Given the description of an element on the screen output the (x, y) to click on. 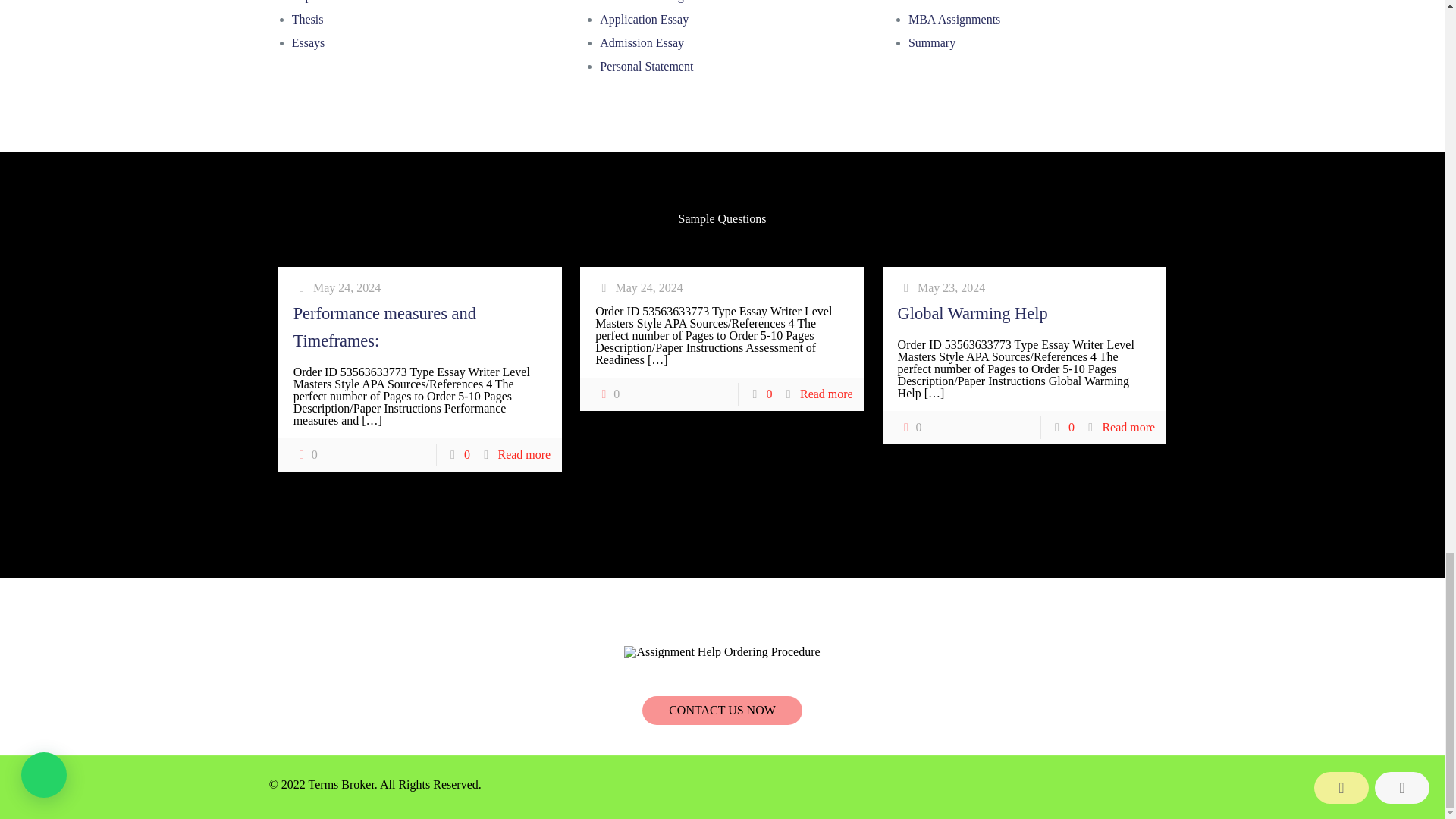
Performance measures and Timeframes: (385, 326)
0 (607, 394)
Read more (1128, 427)
CONTACT US NOW (722, 710)
Read more (523, 454)
0 (909, 427)
0 (305, 454)
Global Warming Help (973, 312)
Read more (826, 393)
